Given the description of an element on the screen output the (x, y) to click on. 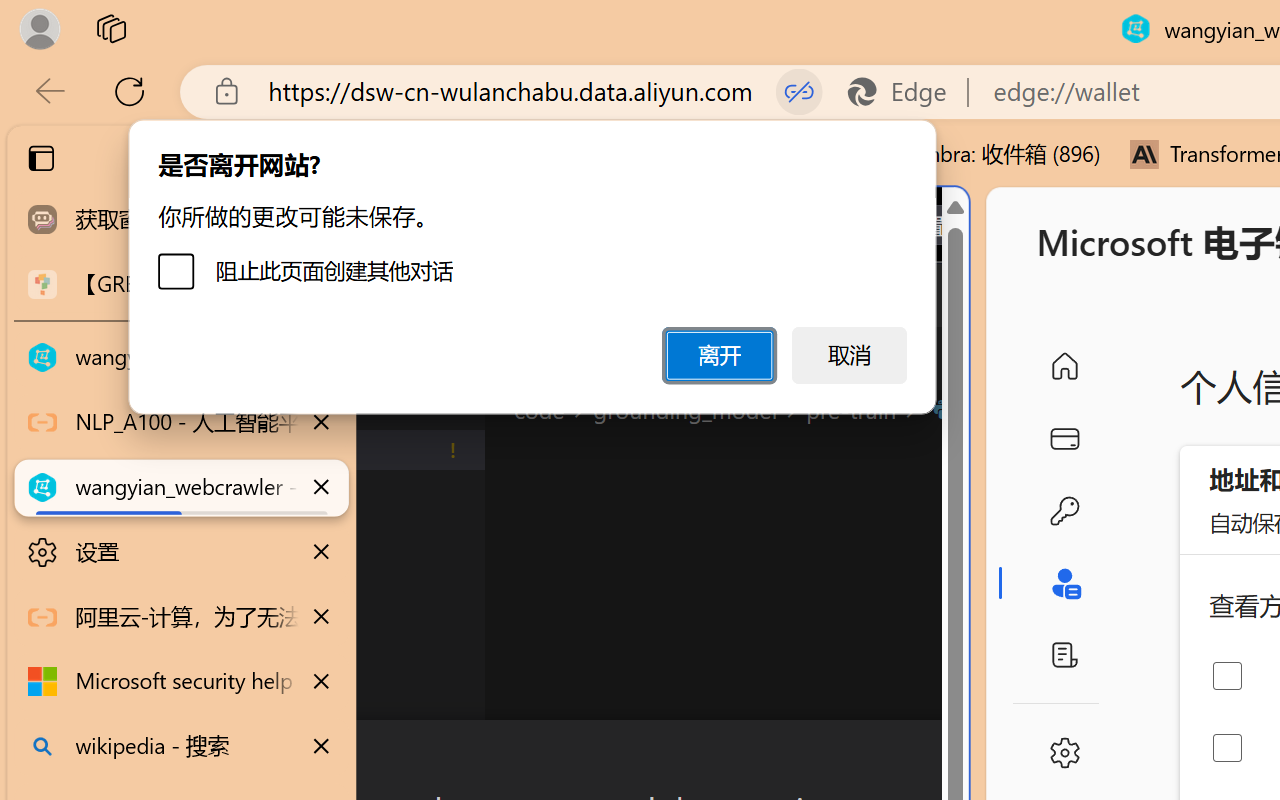
Run and Debug (Ctrl+Shift+D) (135, 692)
